Given the description of an element on the screen output the (x, y) to click on. 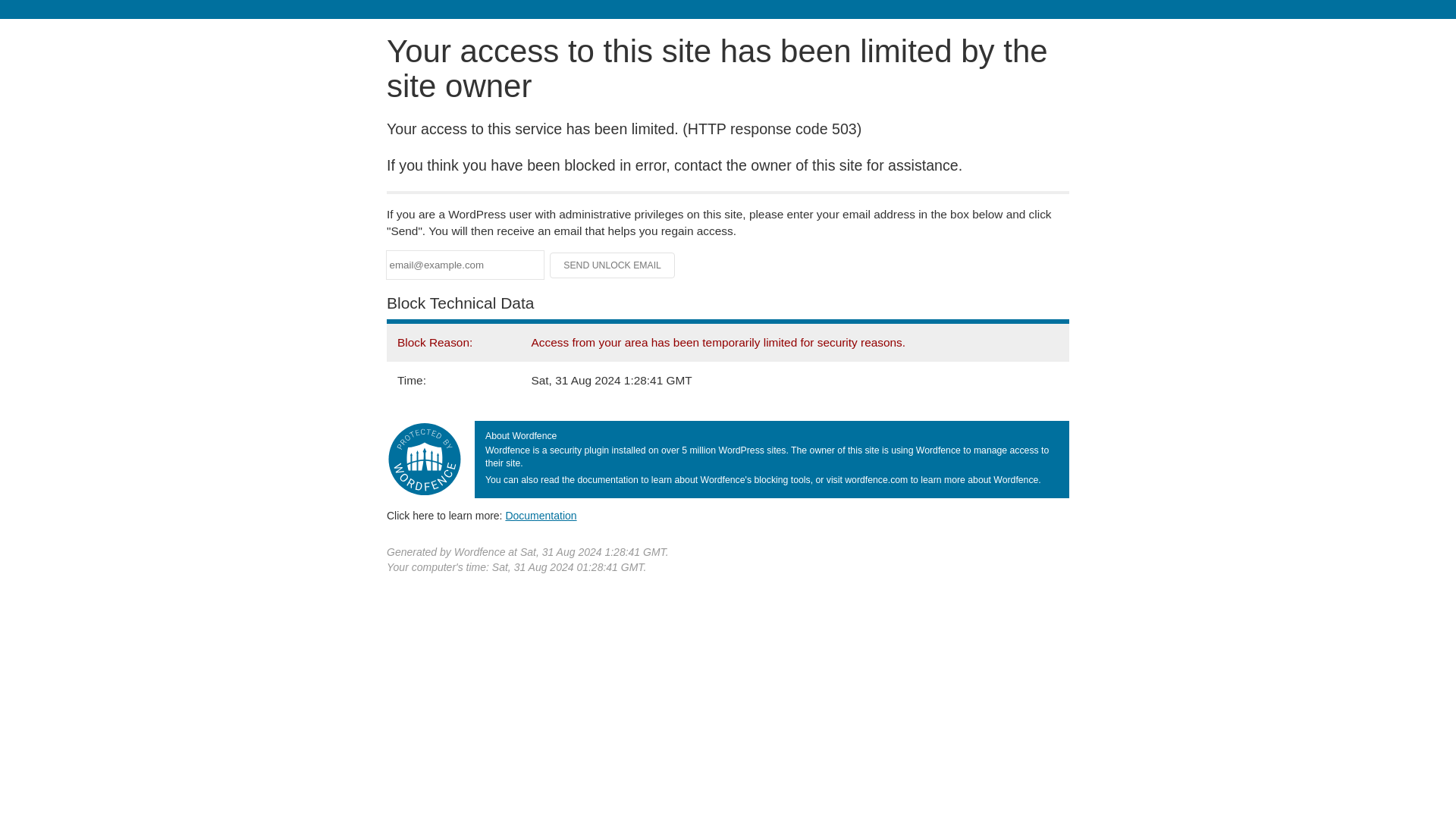
Send Unlock Email (612, 265)
Documentation (540, 515)
Send Unlock Email (612, 265)
